Given the description of an element on the screen output the (x, y) to click on. 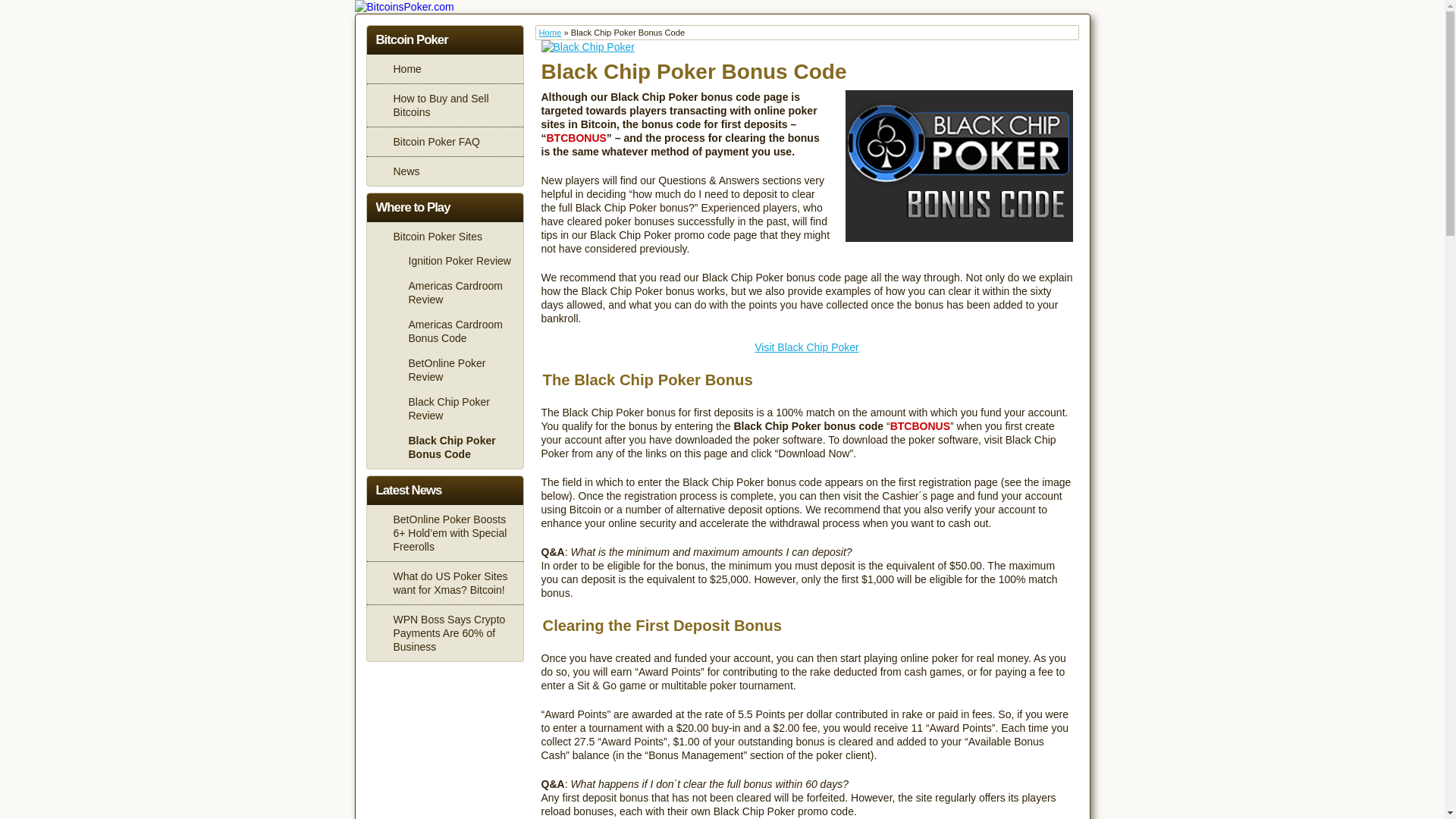
BetOnline Poker Review (451, 368)
BitcoinsPoker.com (404, 6)
Ignition Poker Review (451, 258)
Visit Black Chip Poker (806, 346)
Americas Cardroom Review (451, 290)
News (444, 170)
Black Chip Poker (587, 47)
Black Chip Poker Review (451, 406)
Home (444, 68)
Home (549, 31)
